Given the description of an element on the screen output the (x, y) to click on. 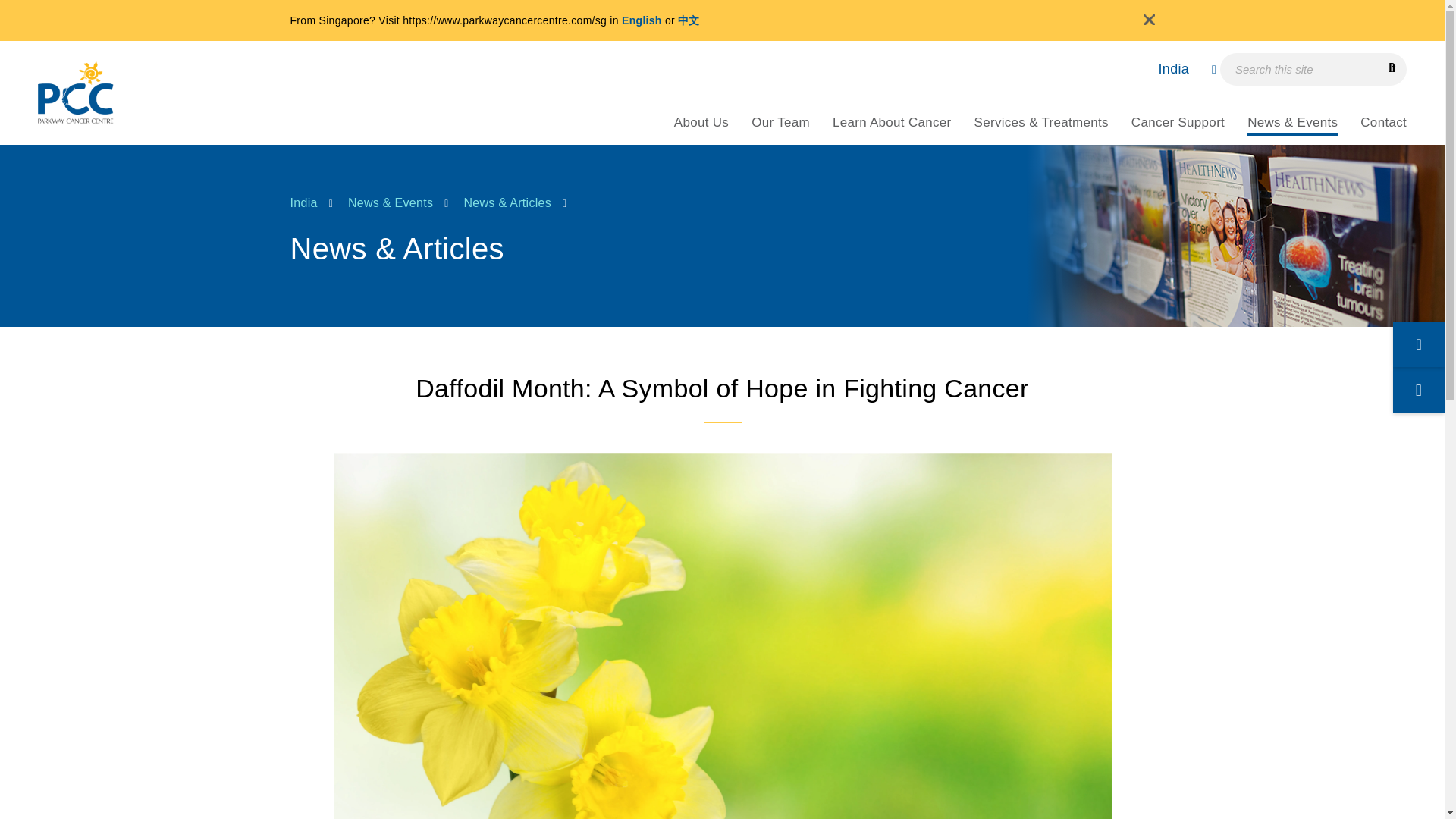
English (641, 20)
India (1179, 69)
